Given the description of an element on the screen output the (x, y) to click on. 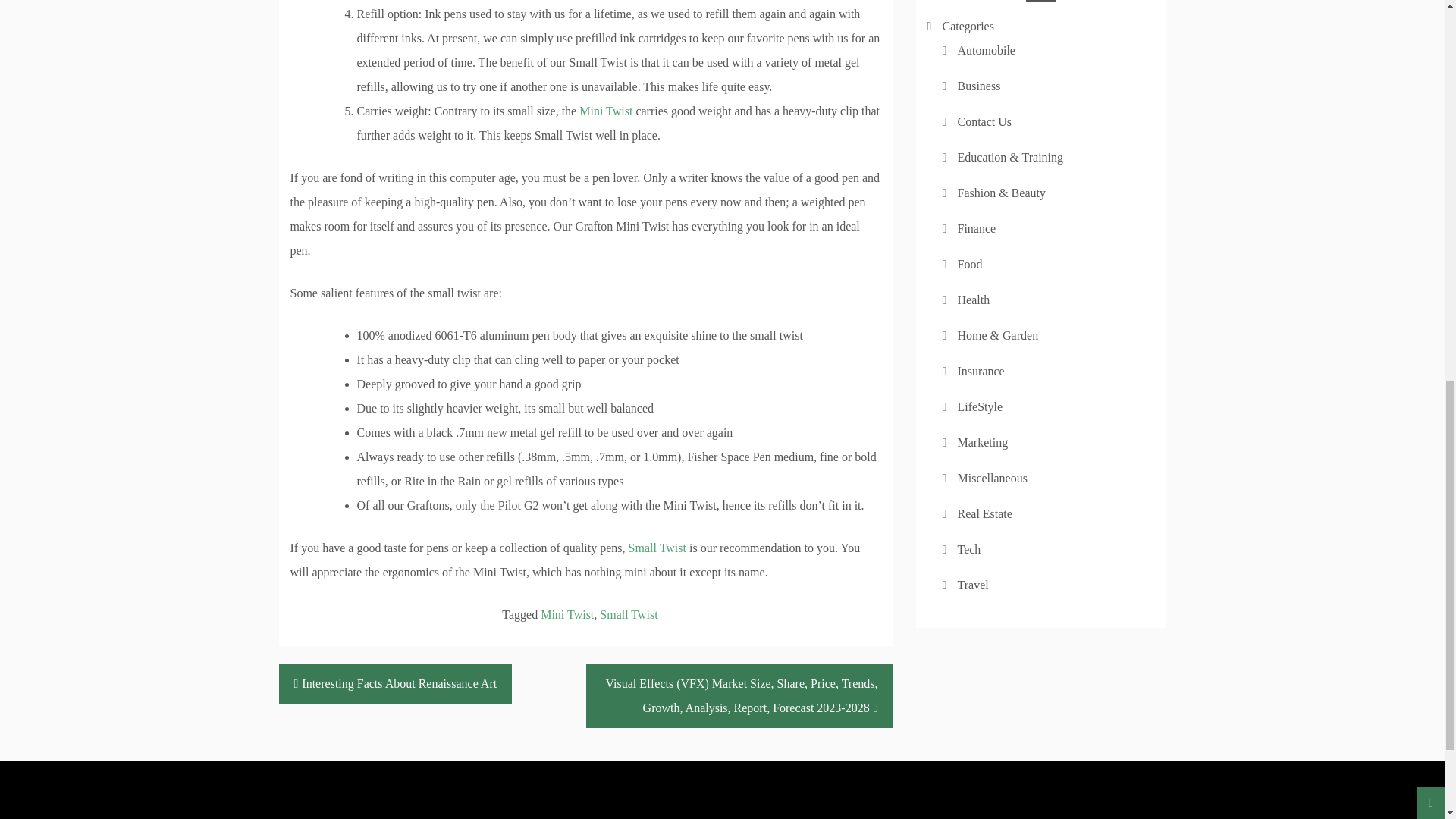
Mini Twist (605, 110)
Small Twist (656, 547)
Contact Us (983, 121)
Automobile (985, 50)
Business (978, 85)
Interesting Facts About Renaissance Art (395, 683)
Mini Twist (567, 614)
Small Twist (628, 614)
